Given the description of an element on the screen output the (x, y) to click on. 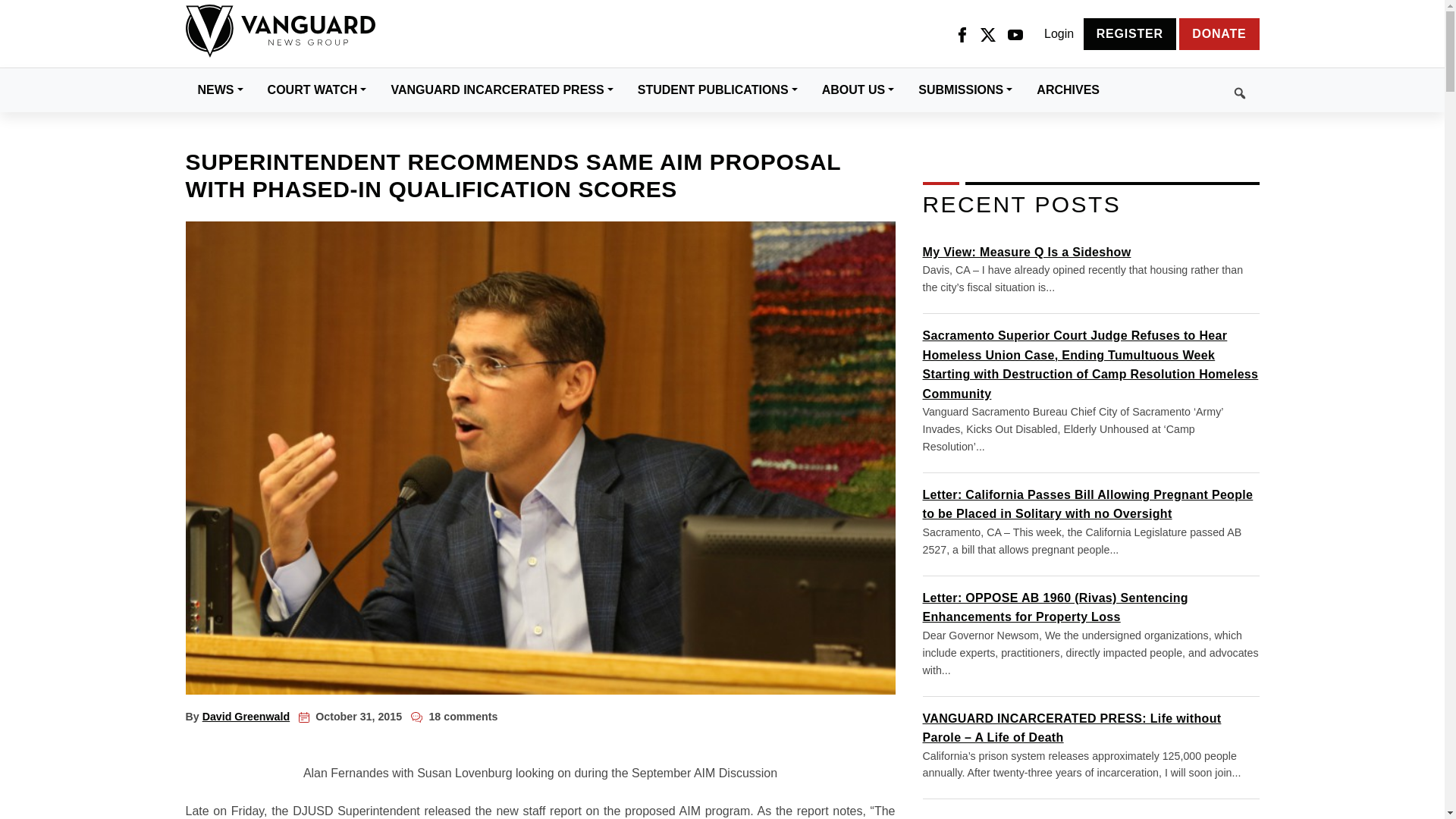
Facebook (962, 34)
YouTube (1015, 34)
DONATE (1219, 33)
REGISTER (1129, 33)
NEWS (219, 89)
Login (1058, 34)
Search (1185, 90)
Twitter (987, 34)
